Given the description of an element on the screen output the (x, y) to click on. 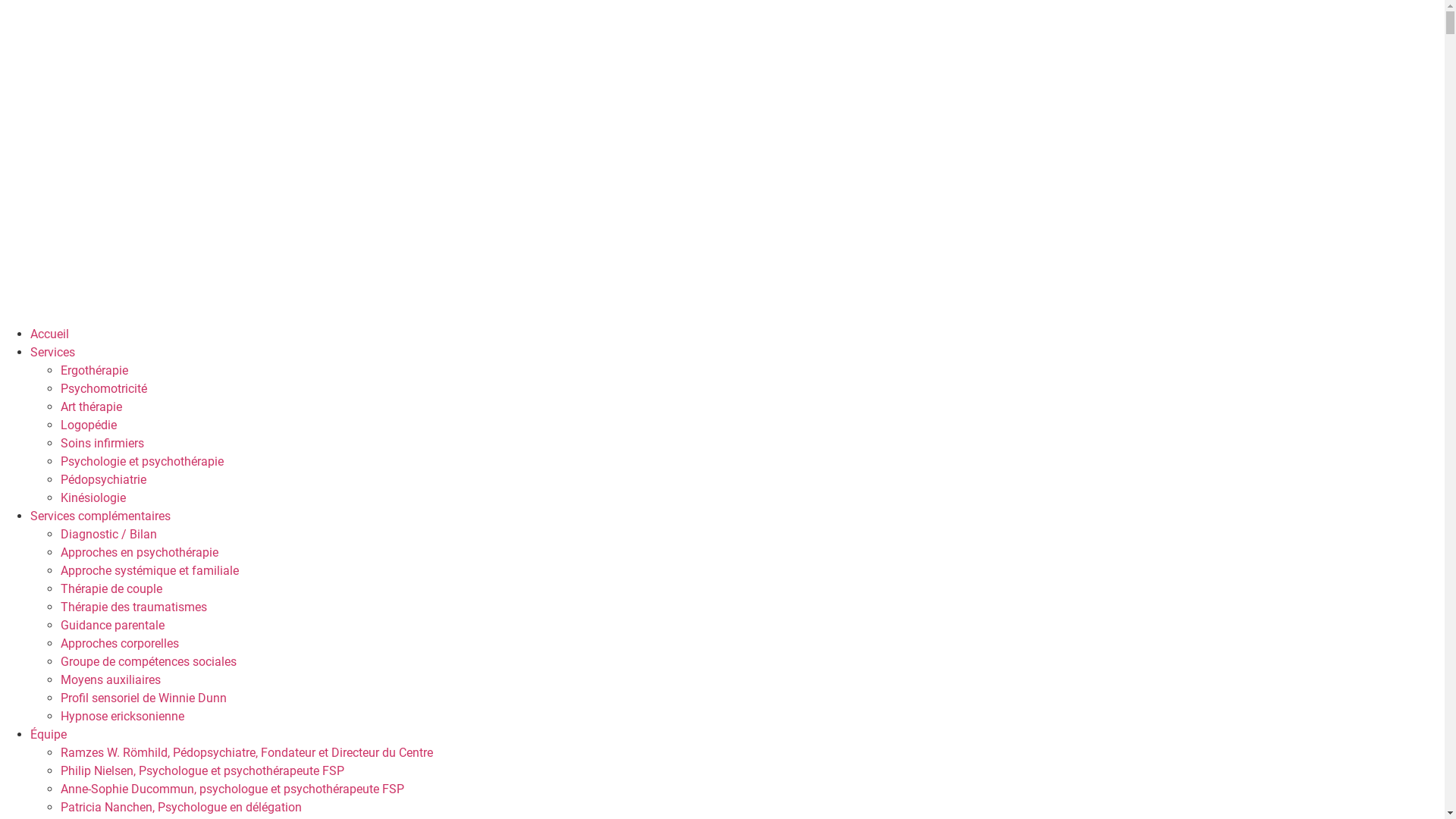
Soins infirmiers Element type: text (102, 443)
Approches corporelles Element type: text (119, 643)
Accueil Element type: text (49, 333)
Moyens auxiliaires Element type: text (110, 679)
Guidance parentale Element type: text (112, 625)
Profil sensoriel de Winnie Dunn Element type: text (143, 697)
Services Element type: text (52, 352)
Diagnostic / Bilan Element type: text (108, 534)
Hypnose ericksonienne Element type: text (122, 716)
Aller au contenu Element type: text (0, 0)
